Given the description of an element on the screen output the (x, y) to click on. 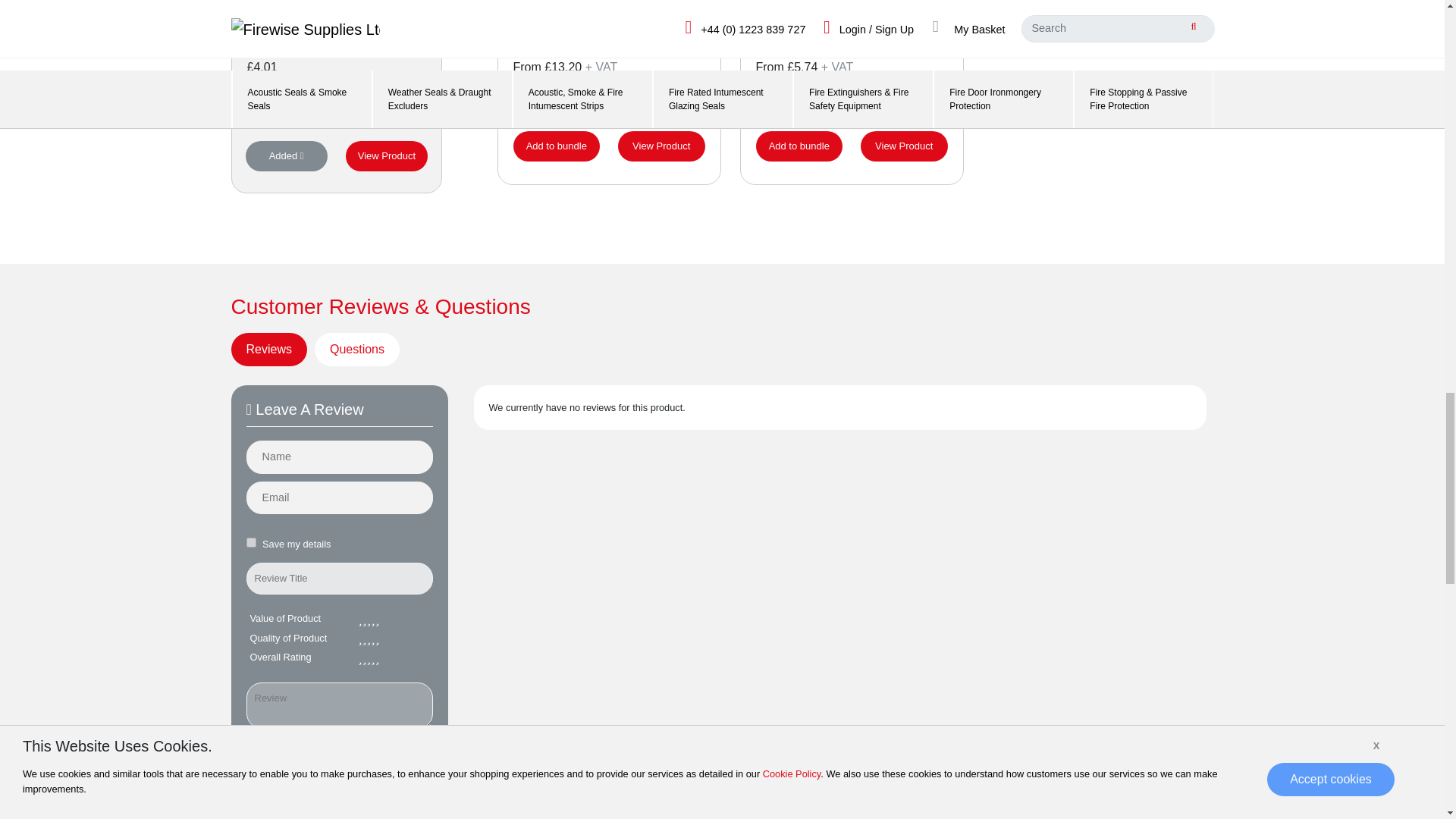
yes (251, 542)
Submit (339, 757)
